Given the description of an element on the screen output the (x, y) to click on. 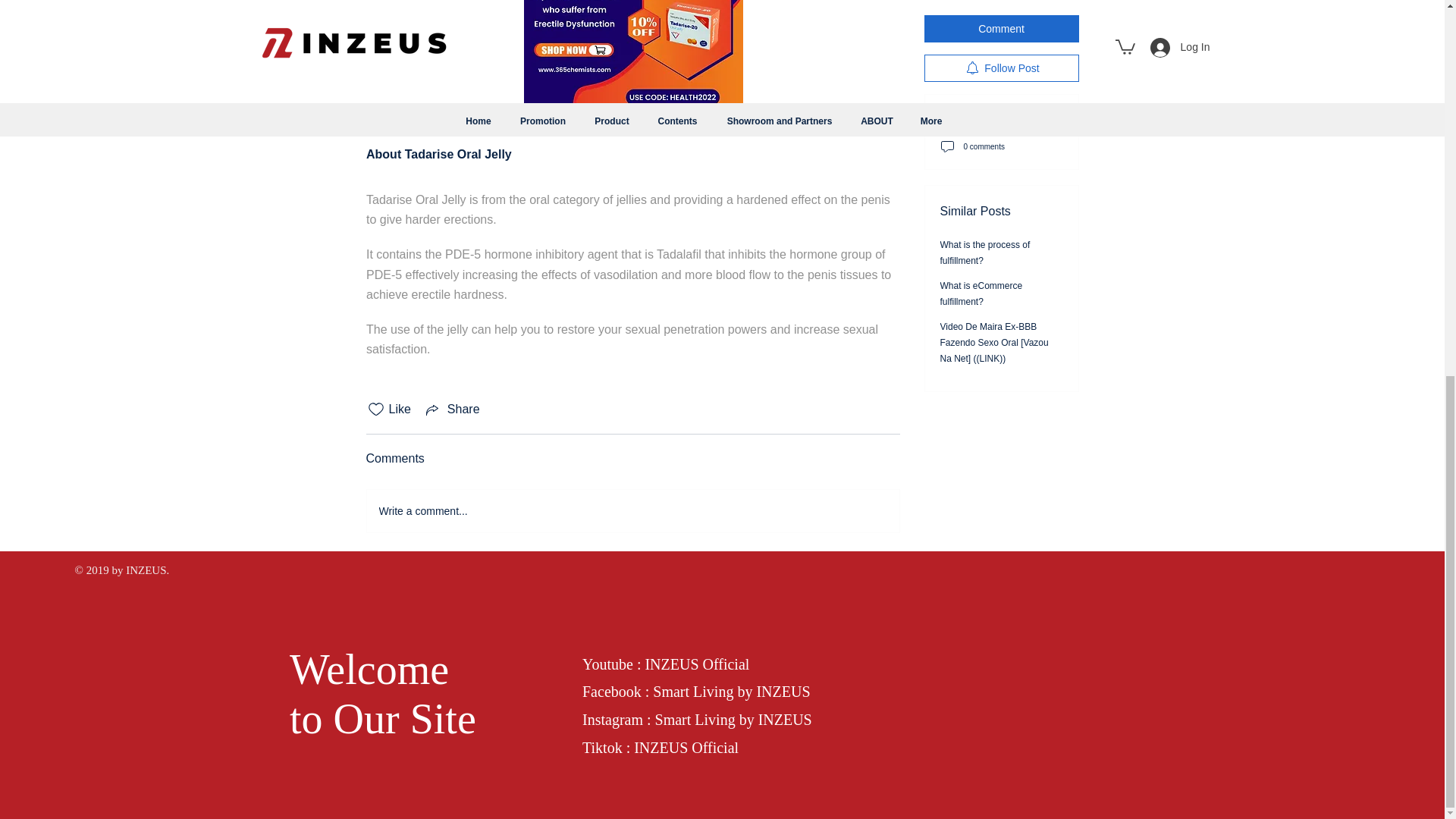
Youtube : INZEUS Official (665, 664)
Share (451, 409)
Write a comment... (632, 510)
